Given the description of an element on the screen output the (x, y) to click on. 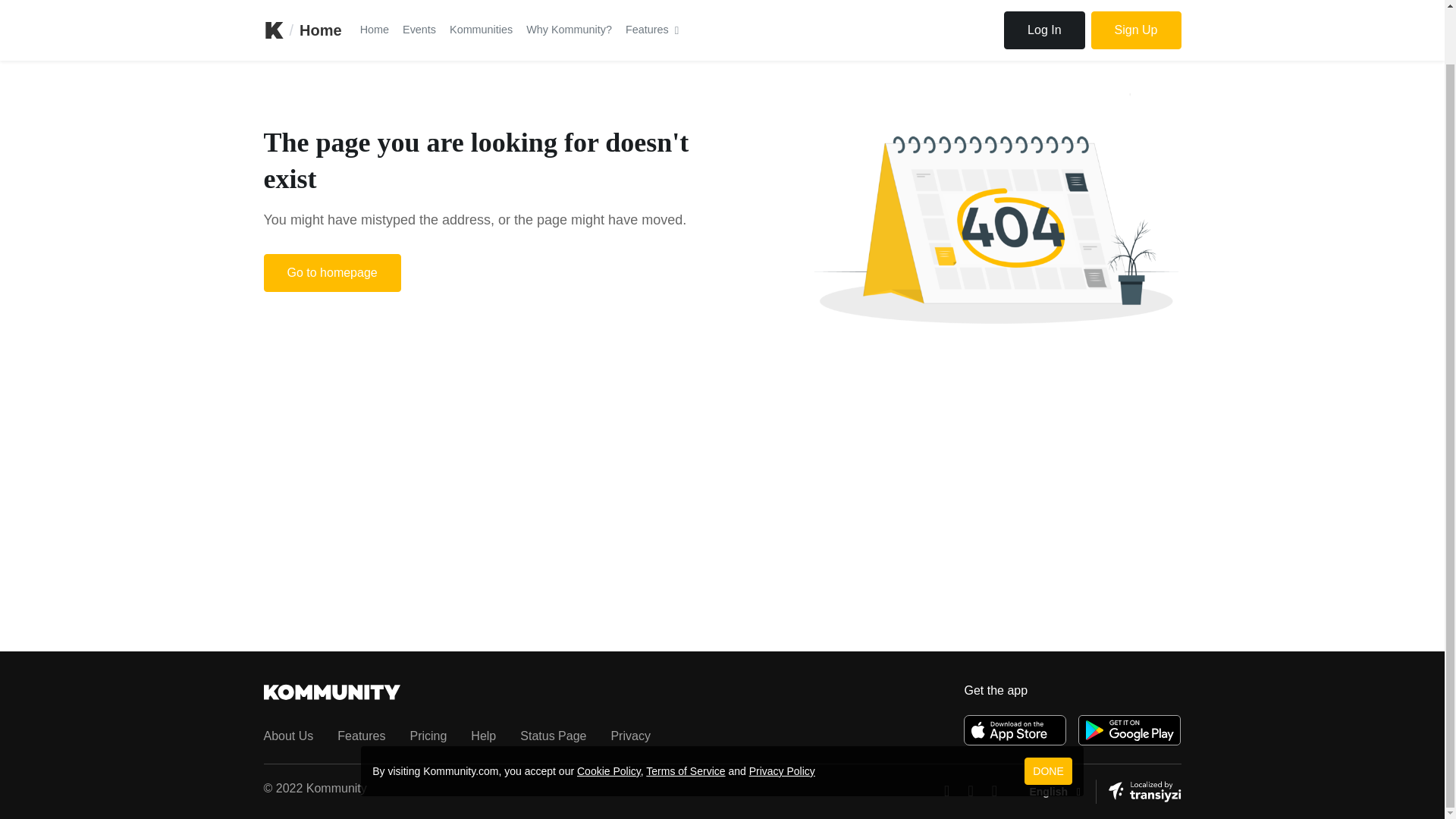
Privacy Policy (782, 712)
Features (361, 735)
Go to homepage (332, 272)
DONE (1048, 712)
About Us (288, 735)
Privacy (629, 735)
Help (483, 735)
Status Page (552, 735)
Software Localization (1144, 791)
Terms of Service (685, 712)
Pricing (427, 735)
Cookie Policy (608, 712)
